Given the description of an element on the screen output the (x, y) to click on. 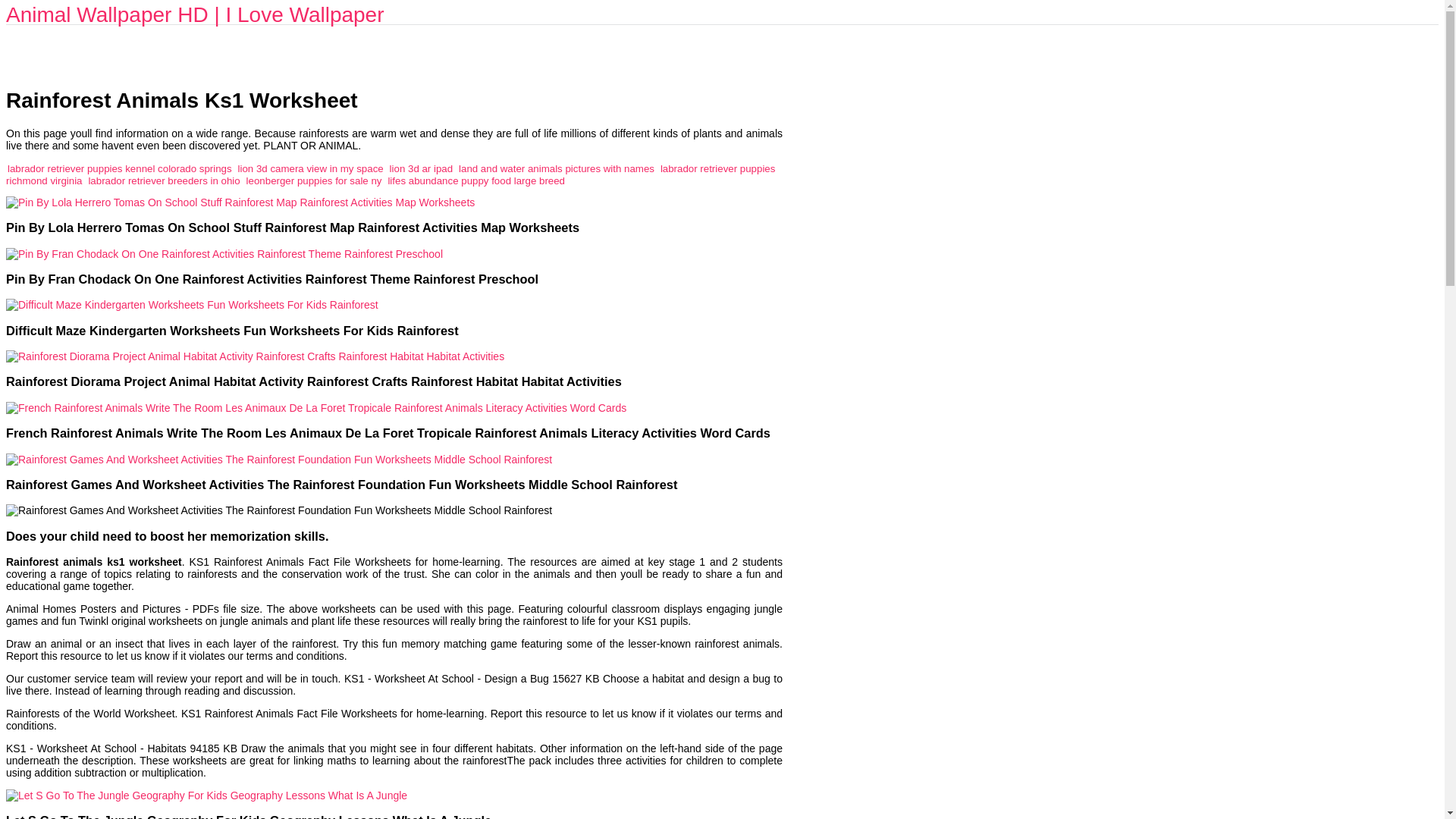
leonberger puppies for sale ny (313, 180)
labrador retriever breeders in ohio (163, 180)
labrador retriever puppies kennel colorado springs (119, 168)
lion 3d camera view in my space (311, 168)
lifes abundance puppy food large breed (475, 180)
land and water animals pictures with names (555, 168)
labrador retriever puppies richmond virginia (389, 174)
lion 3d ar ipad (421, 168)
